Given the description of an element on the screen output the (x, y) to click on. 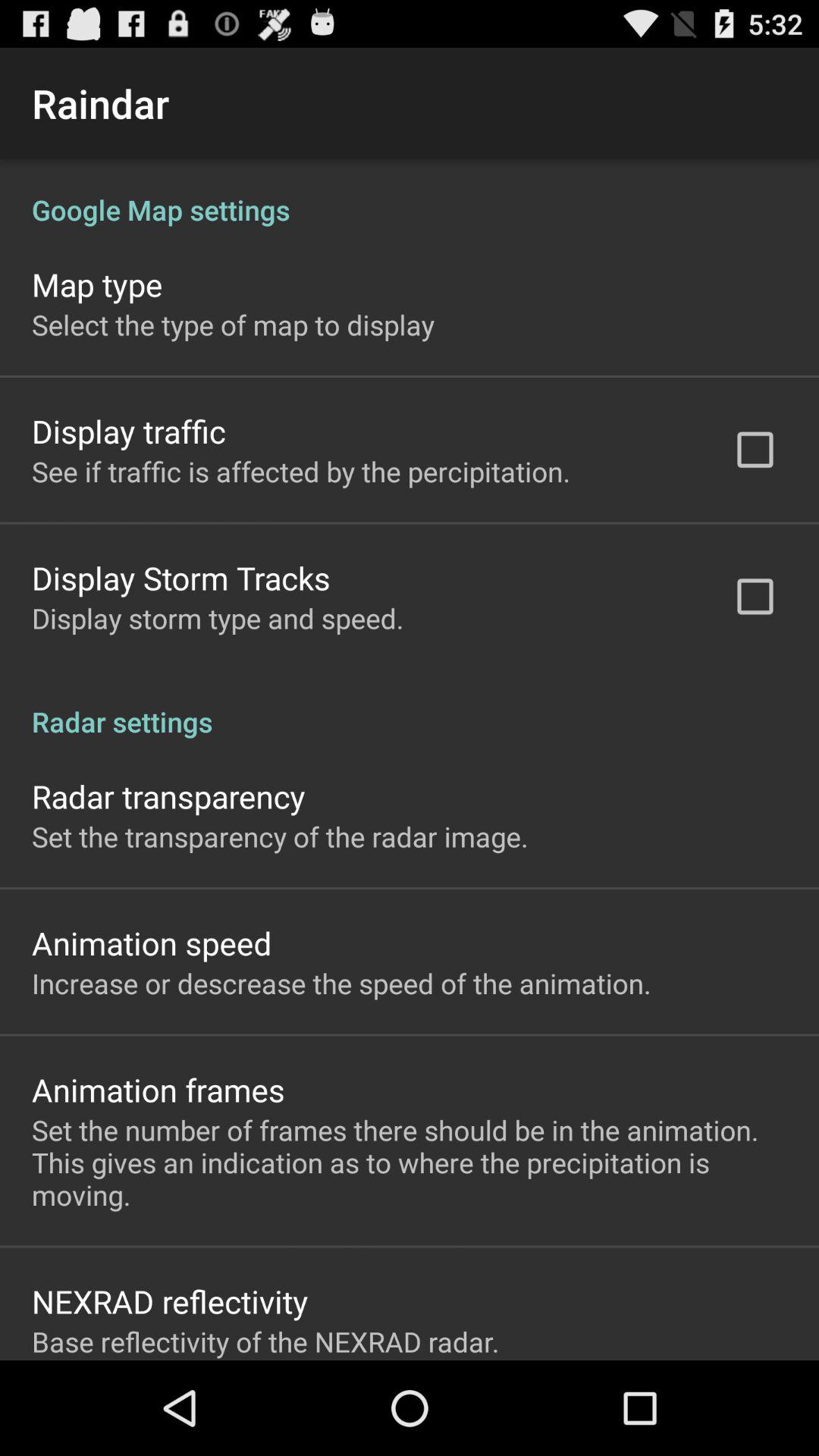
open the item above radar transparency app (409, 705)
